Given the description of an element on the screen output the (x, y) to click on. 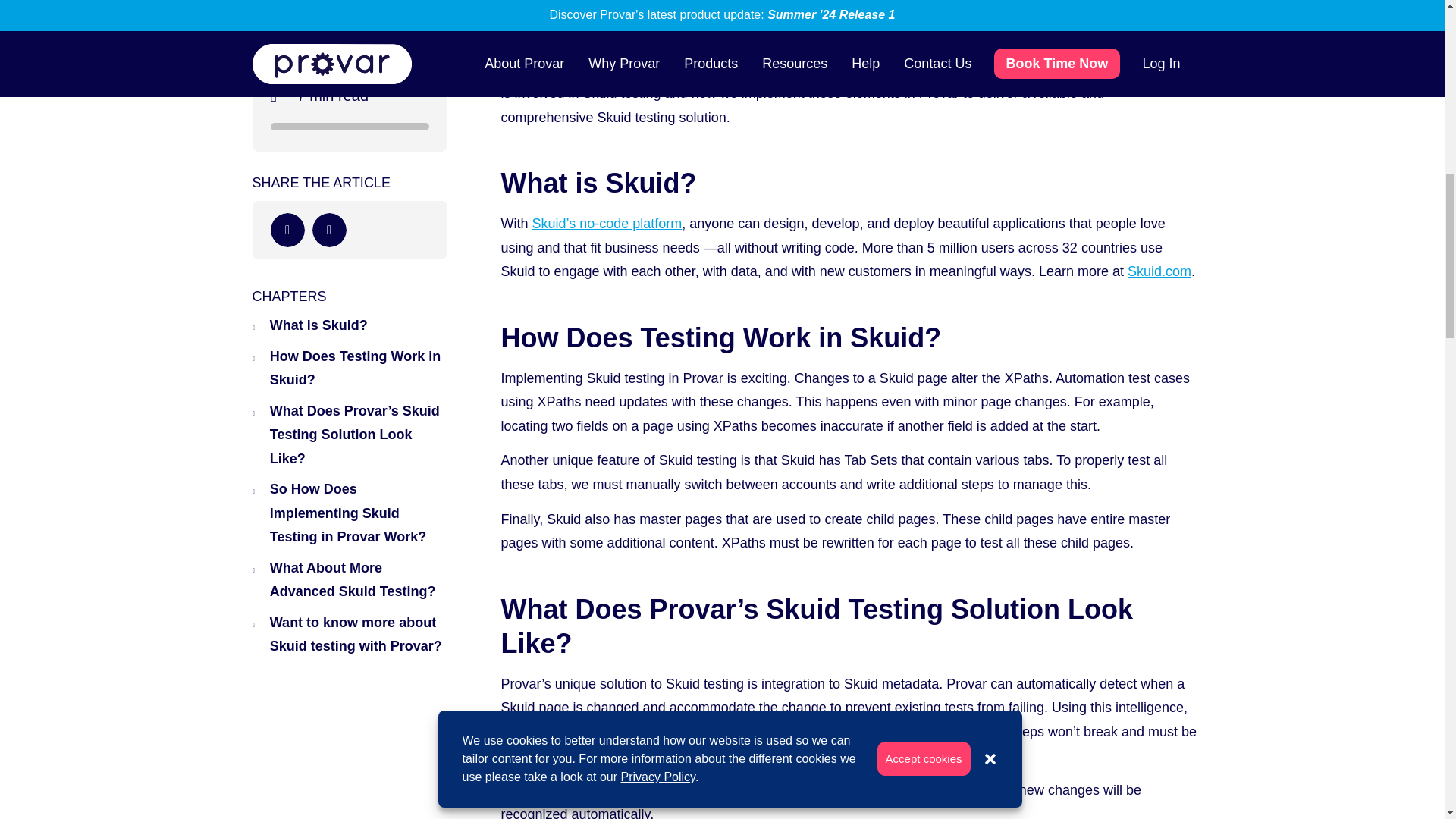
marvin-meyer-SYTO3xs06fU-unsplash (721, 15)
Privacy Policy (658, 367)
Accept cookies (924, 349)
